Given the description of an element on the screen output the (x, y) to click on. 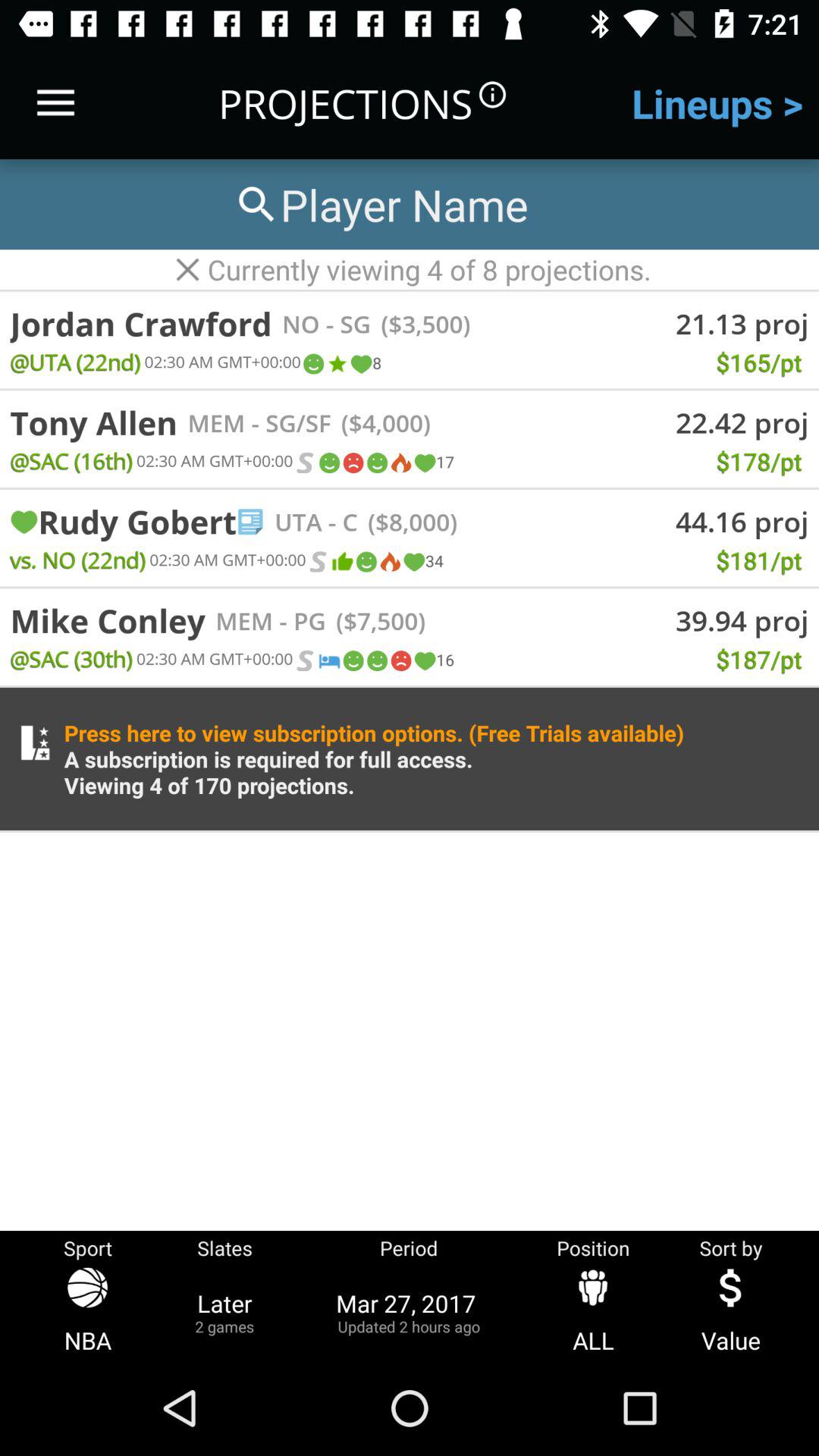
click on the option which says nba (87, 1312)
click on the sad emoticon option in mike conley field (400, 660)
